Given the description of an element on the screen output the (x, y) to click on. 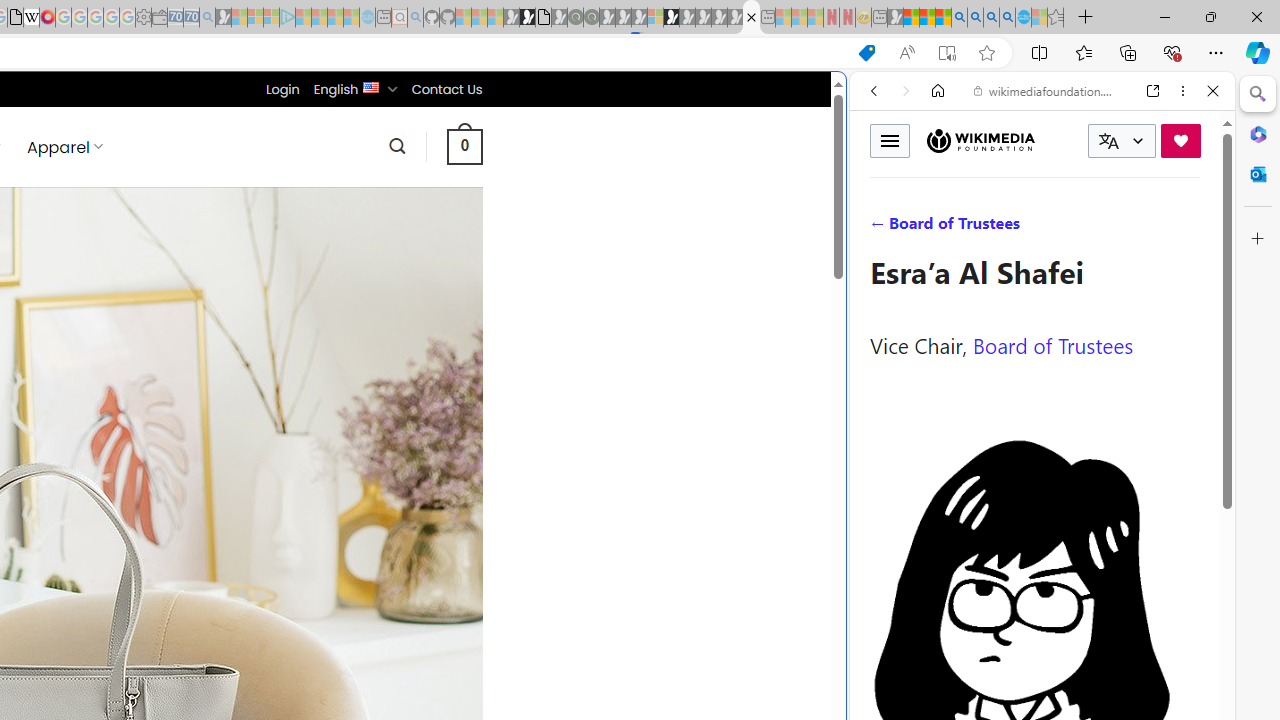
Settings - Sleeping (143, 17)
